Given the description of an element on the screen output the (x, y) to click on. 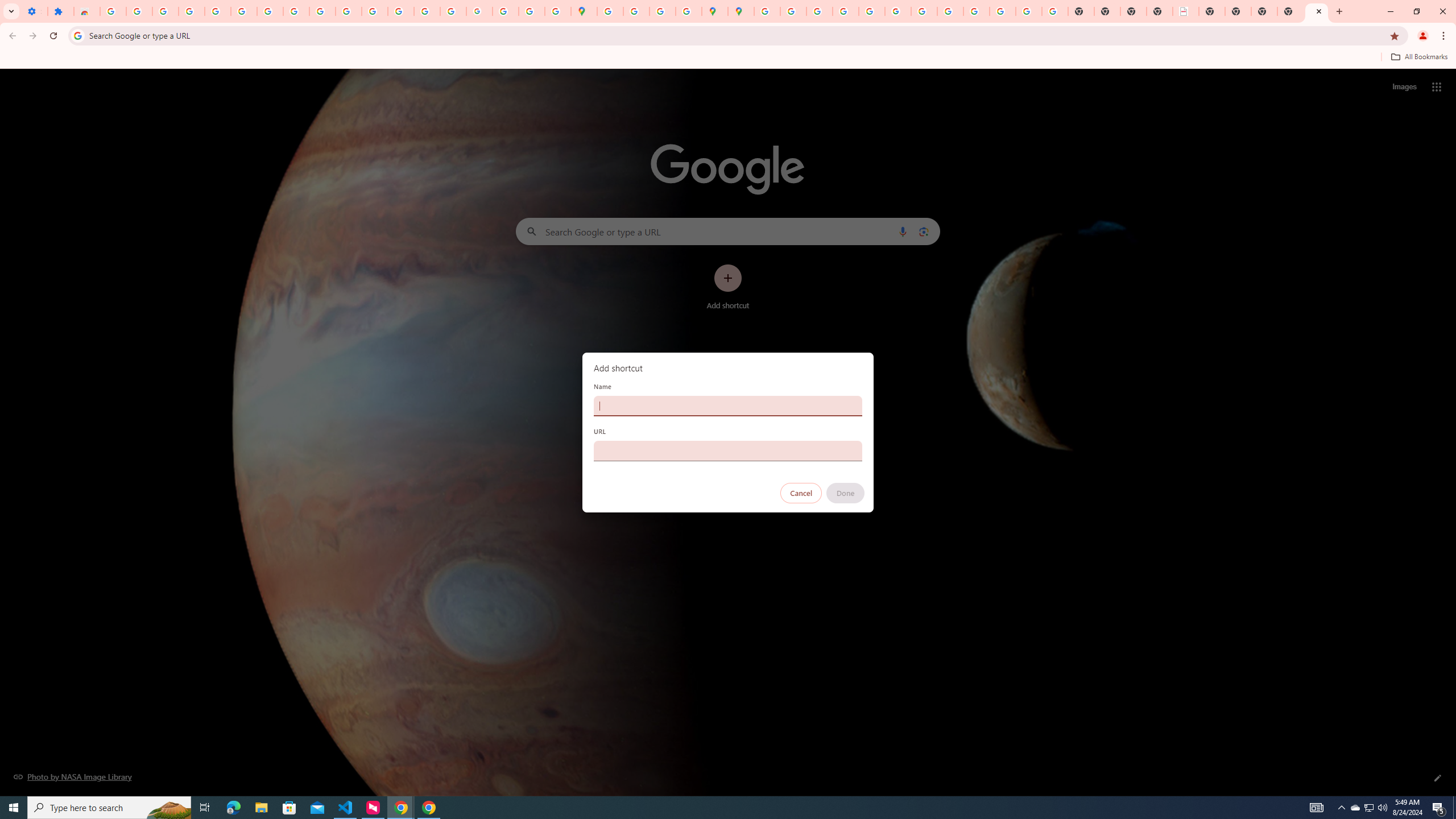
Privacy Help Center - Policies Help (845, 11)
Sign in - Google Accounts (766, 11)
